Given the description of an element on the screen output the (x, y) to click on. 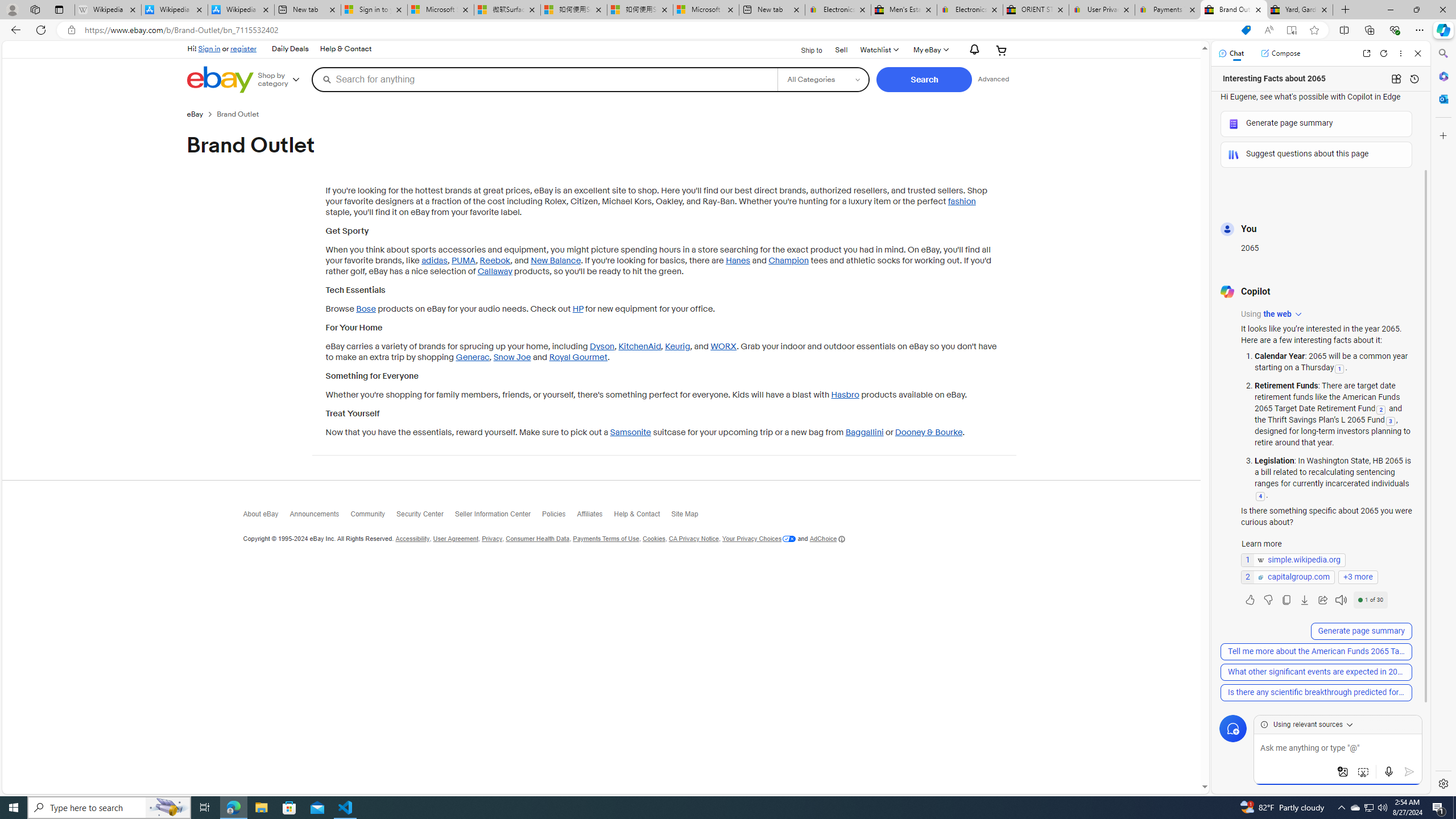
Generac (472, 357)
eBay (201, 113)
Payments Terms of Use (605, 538)
Ship to (804, 49)
Affiliates (595, 517)
AdChoice (827, 538)
Search for anything (544, 78)
